Given the description of an element on the screen output the (x, y) to click on. 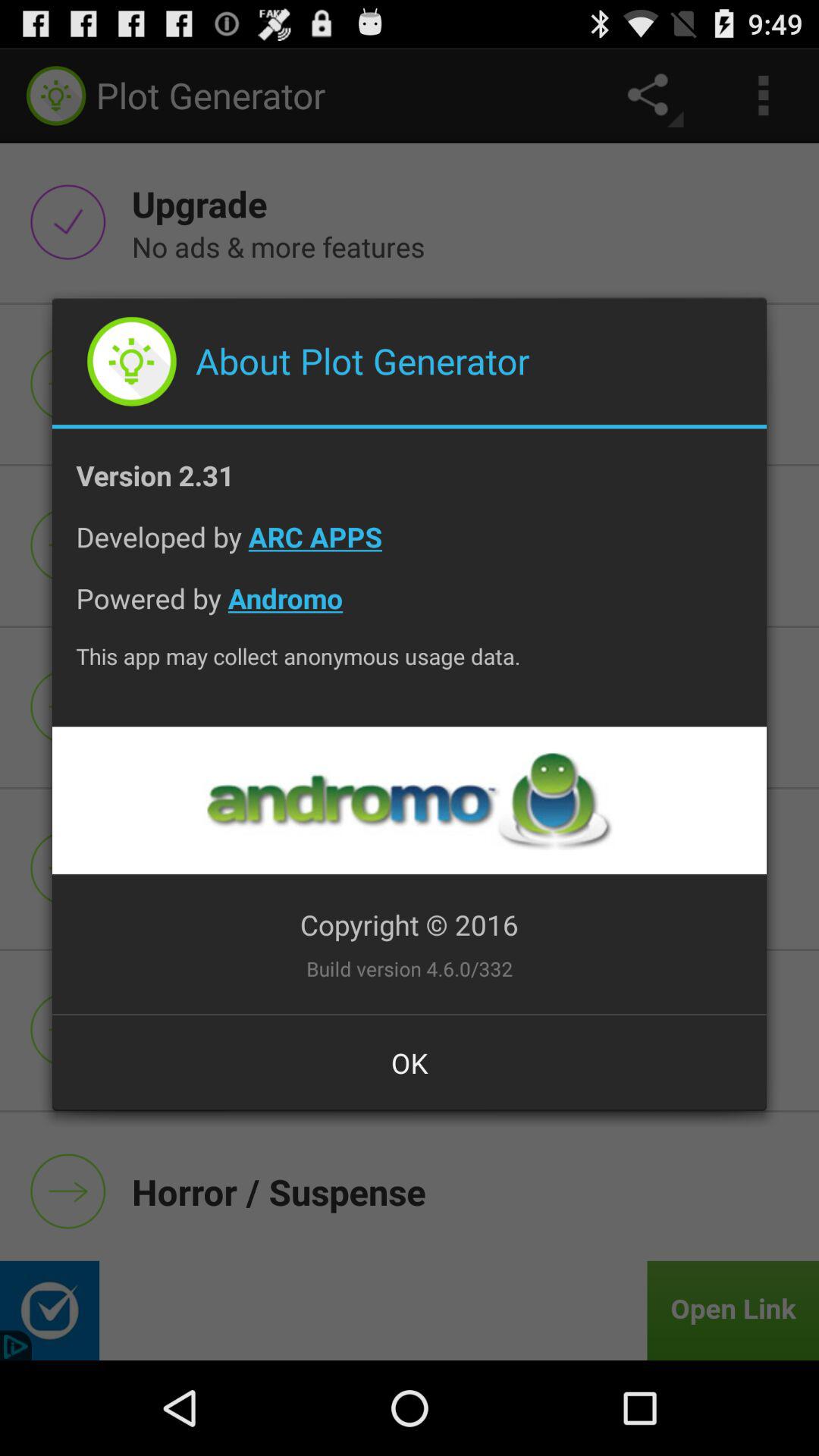
scroll until developed by arc app (409, 548)
